Given the description of an element on the screen output the (x, y) to click on. 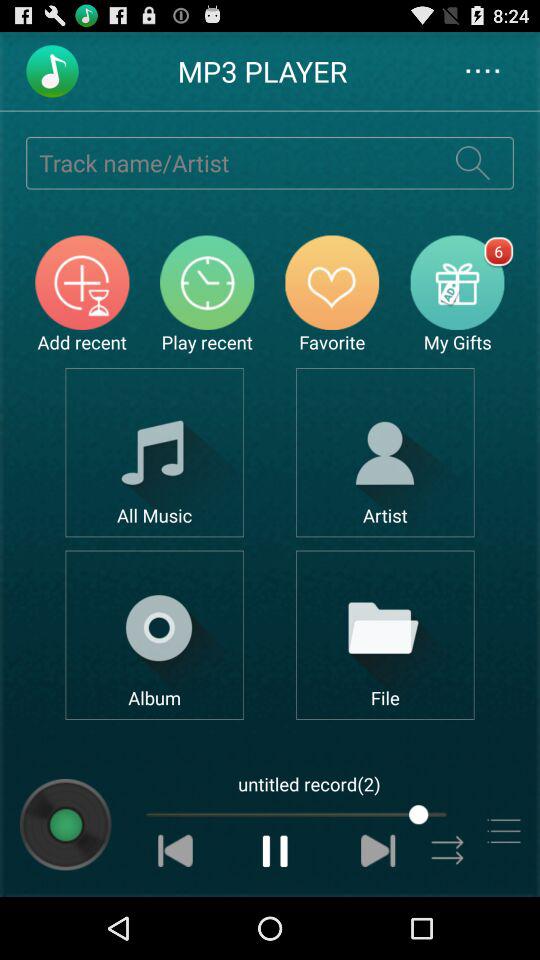
skip to next (378, 850)
